Given the description of an element on the screen output the (x, y) to click on. 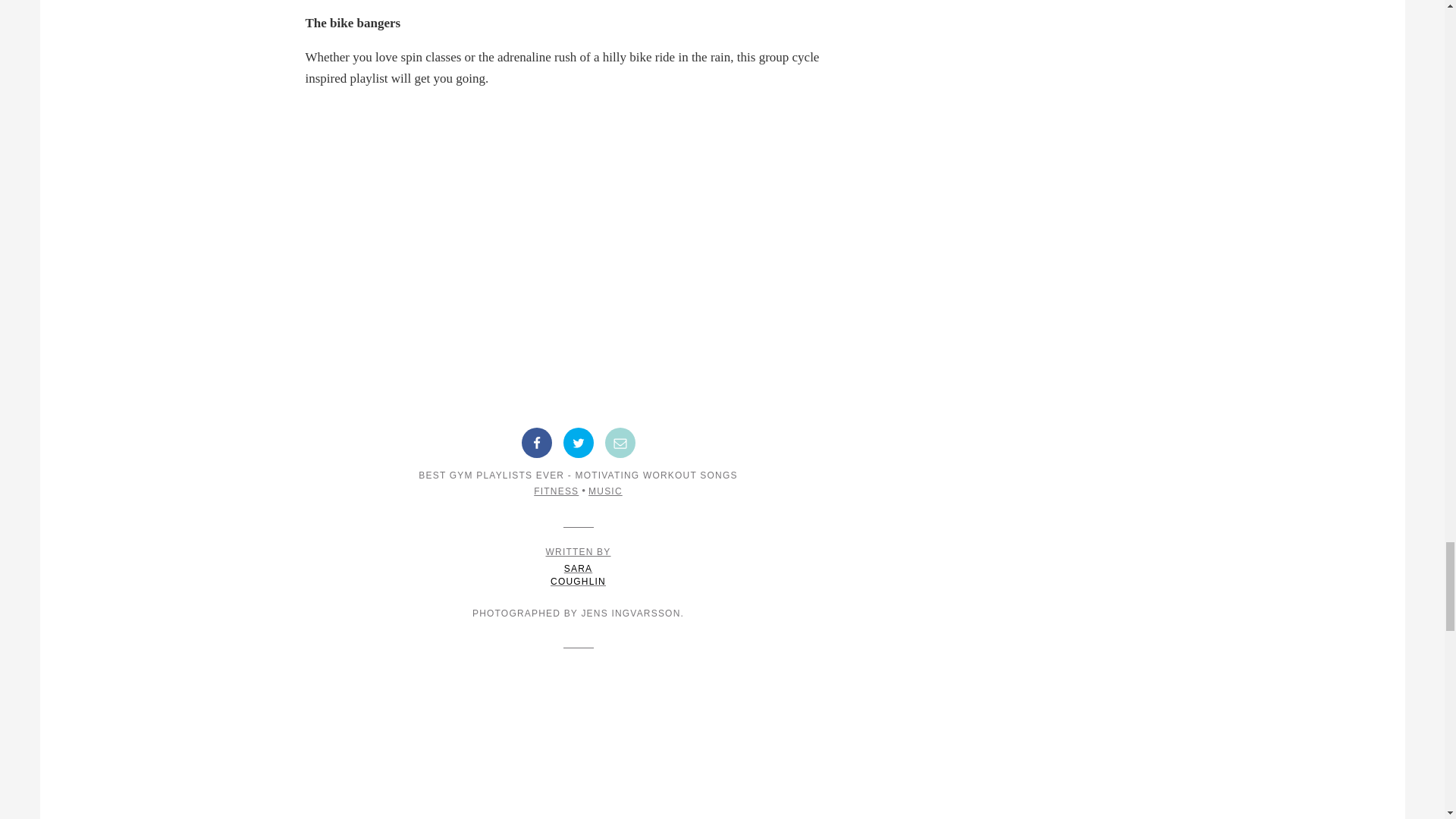
Share on Twitter (577, 442)
Share by Email (619, 442)
FITNESS (556, 491)
MUSIC (577, 567)
